Given the description of an element on the screen output the (x, y) to click on. 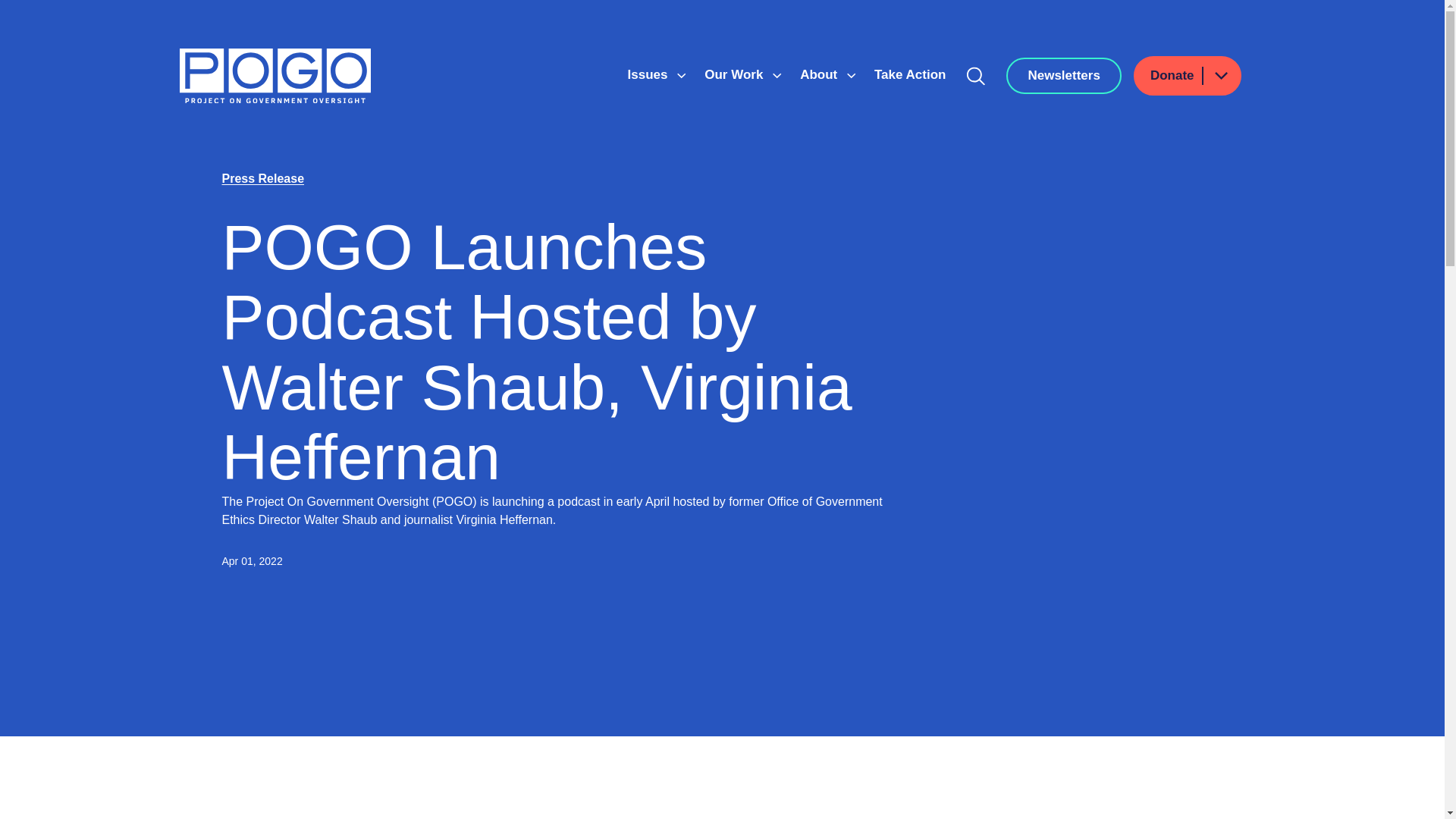
About (820, 74)
Home (274, 75)
Show submenu for Issues (681, 75)
Show submenu for Donate (1220, 75)
Newsletters (1063, 75)
Issues (649, 74)
Donate (1187, 75)
Search (976, 75)
Take Action (909, 74)
Show submenu for Our Work (777, 75)
Our Work (735, 74)
Show submenu for About (851, 75)
